Given the description of an element on the screen output the (x, y) to click on. 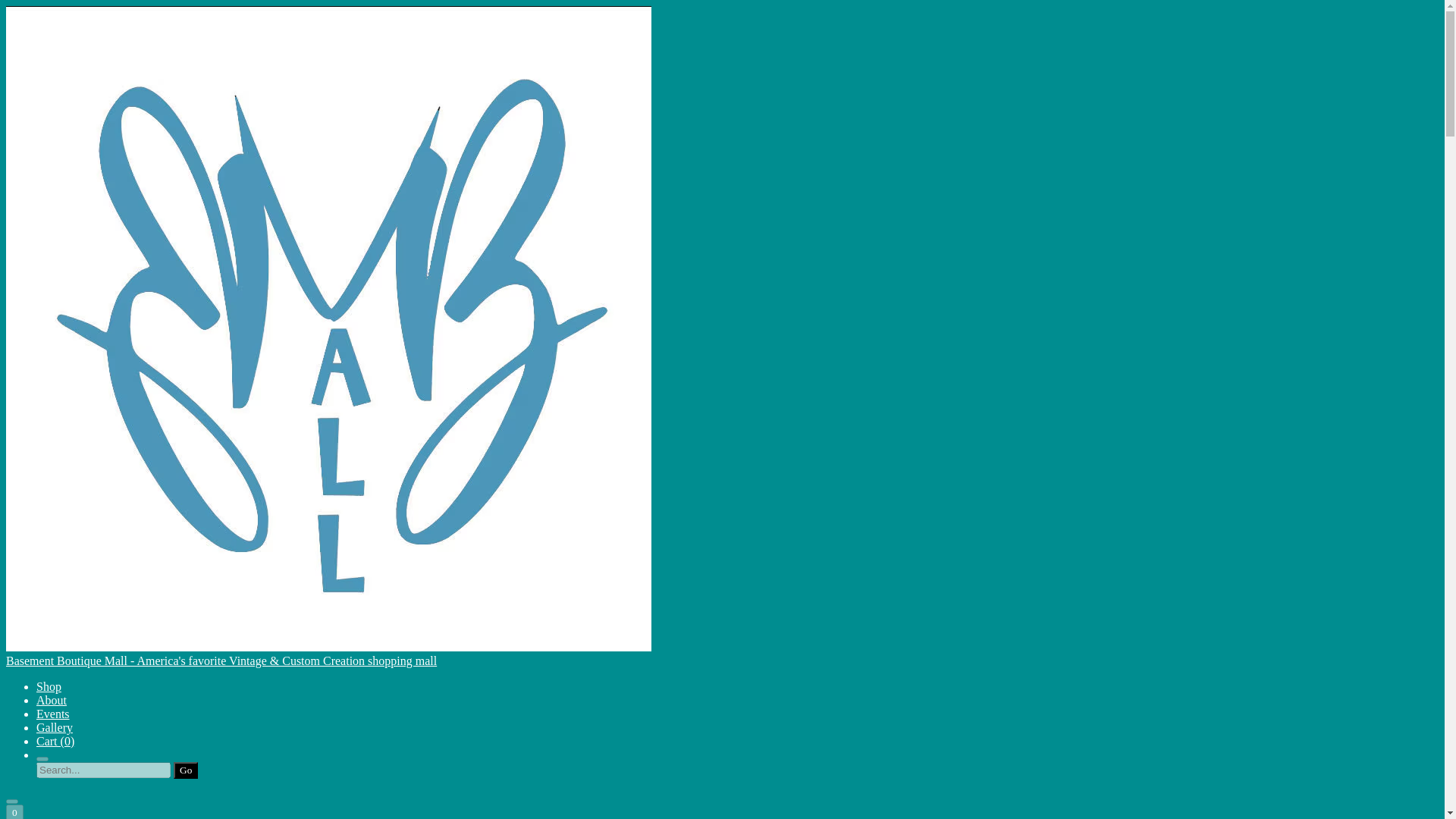
About (51, 699)
Events (52, 713)
Gallery (54, 727)
0 (14, 811)
Shop (48, 686)
Go (185, 770)
Go (185, 770)
